Given the description of an element on the screen output the (x, y) to click on. 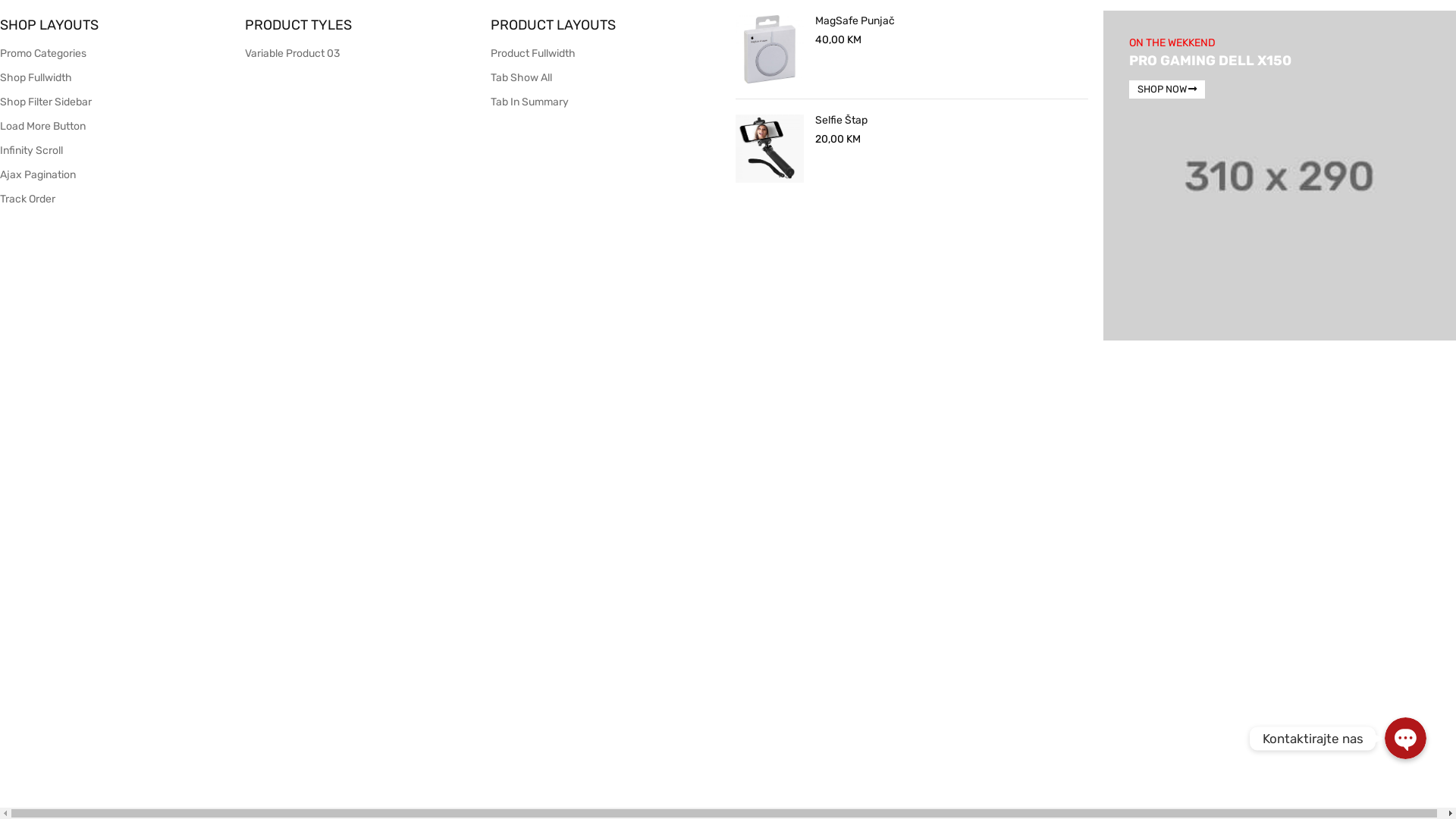
Infinity Scroll Element type: text (31, 150)
SHOP NOW Element type: text (1166, 89)
Ajax Pagination Element type: text (37, 174)
Variable Product 03 Element type: text (291, 53)
Track Order Element type: text (27, 198)
Load More Button Element type: text (42, 125)
Tab Show All Element type: text (521, 77)
Shop Filter Sidebar Element type: text (45, 101)
Product Fullwidth Element type: text (532, 53)
Tab In Summary Element type: text (529, 101)
Shop Fullwidth Element type: text (36, 77)
Promo Categories Element type: text (43, 53)
